Given the description of an element on the screen output the (x, y) to click on. 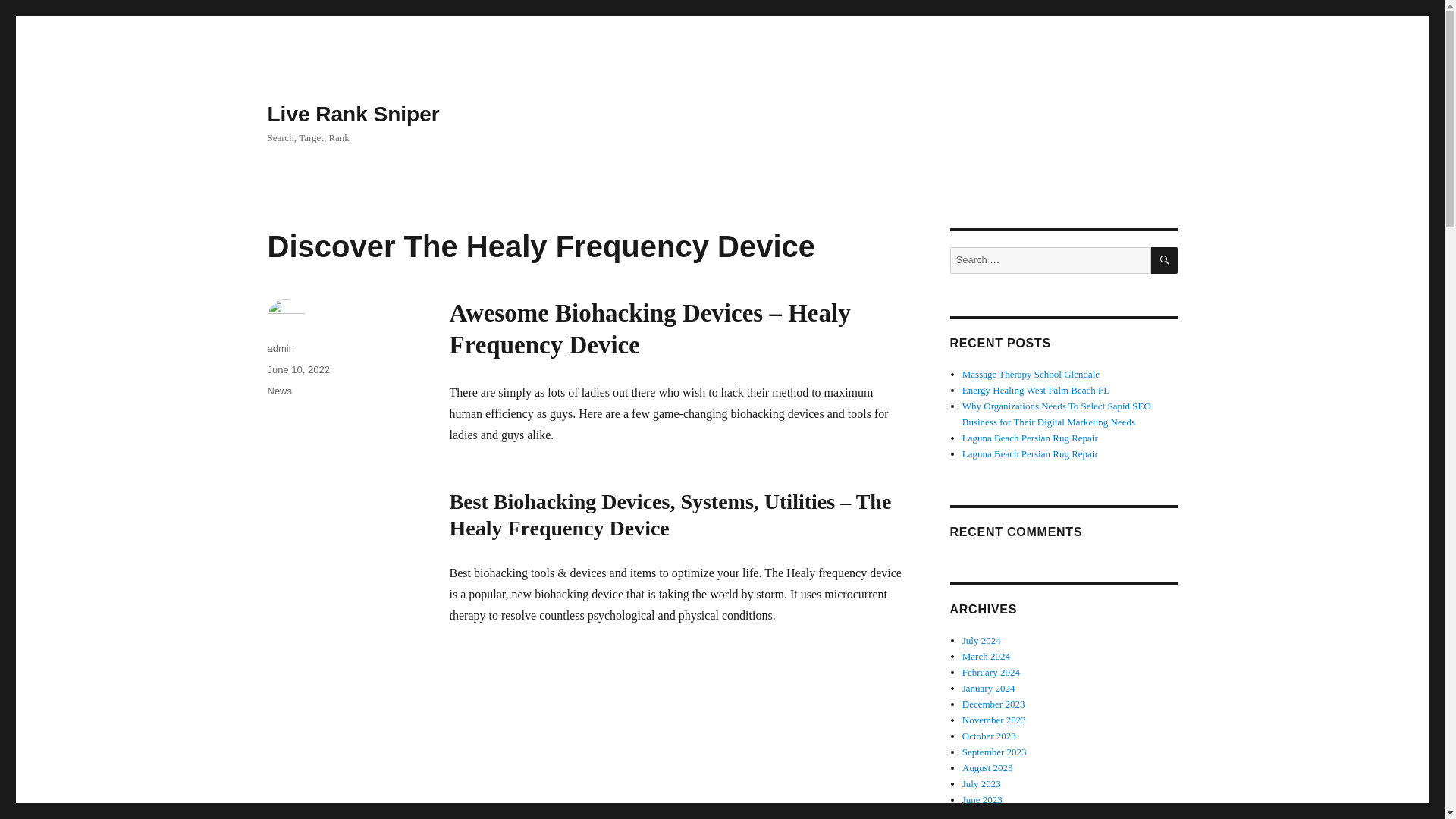
Laguna Beach Persian Rug Repair (1029, 437)
November 2023 (994, 719)
January 2024 (988, 687)
October 2023 (989, 736)
admin (280, 348)
June 2023 (982, 799)
August 2023 (987, 767)
YouTube video player (660, 733)
Search (1164, 260)
Massage Therapy School Glendale (1030, 374)
February 2024 (991, 672)
Energy Healing West Palm Beach FL (1035, 389)
March 2024 (986, 655)
Laguna Beach Persian Rug Repair (1029, 453)
